Given the description of an element on the screen output the (x, y) to click on. 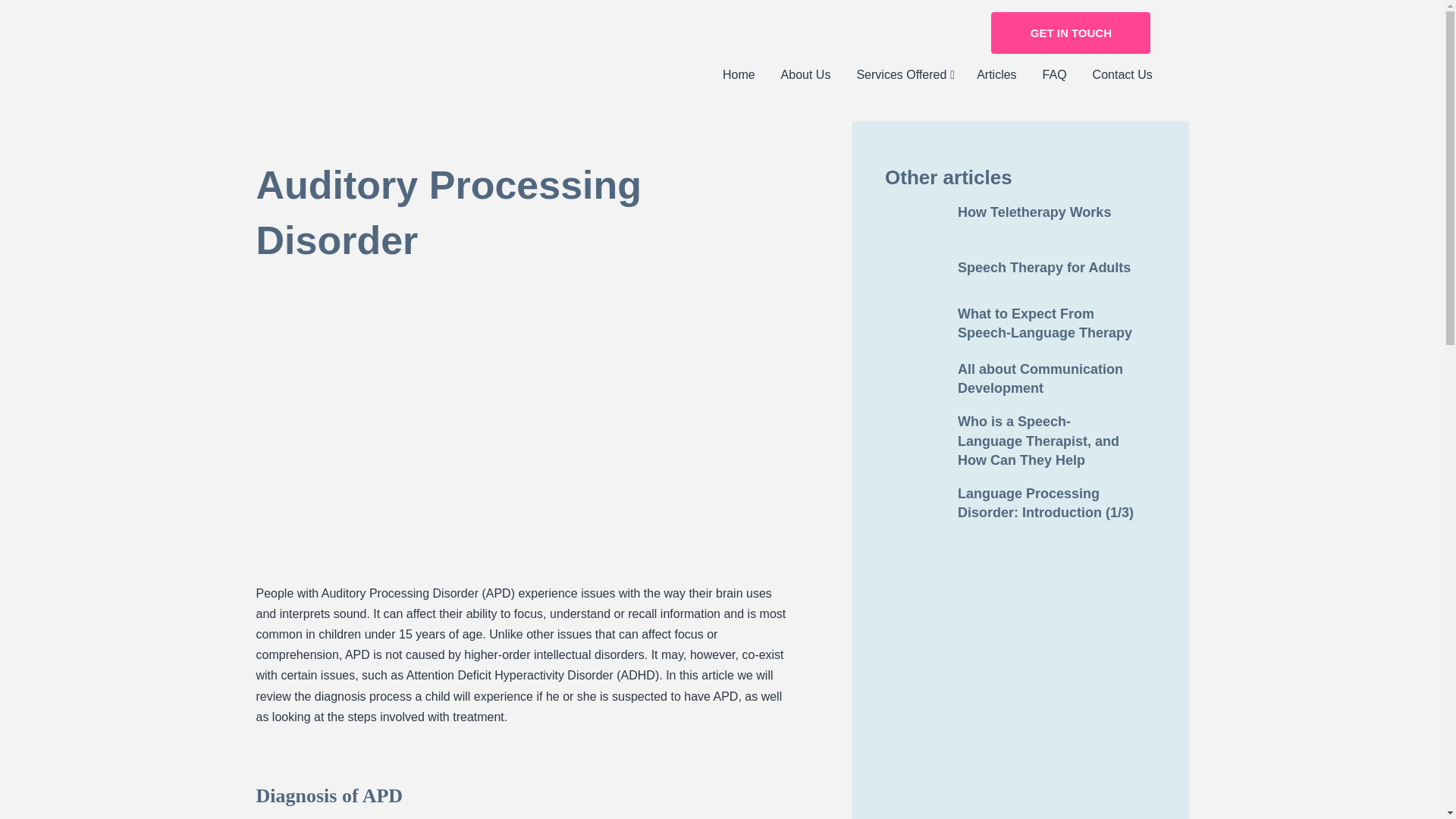
GET IN TOUCH (1070, 33)
All about Communication Development (1020, 378)
Home (739, 75)
FAQ (1054, 75)
Contact Us (1123, 75)
Speech Therapy for Adults (1020, 267)
Articles (996, 75)
Who is a Speech-Language Therapist, and How Can They Help (1020, 441)
What to Expect From Speech-Language Therapy (1020, 323)
About Us (806, 75)
